Given the description of an element on the screen output the (x, y) to click on. 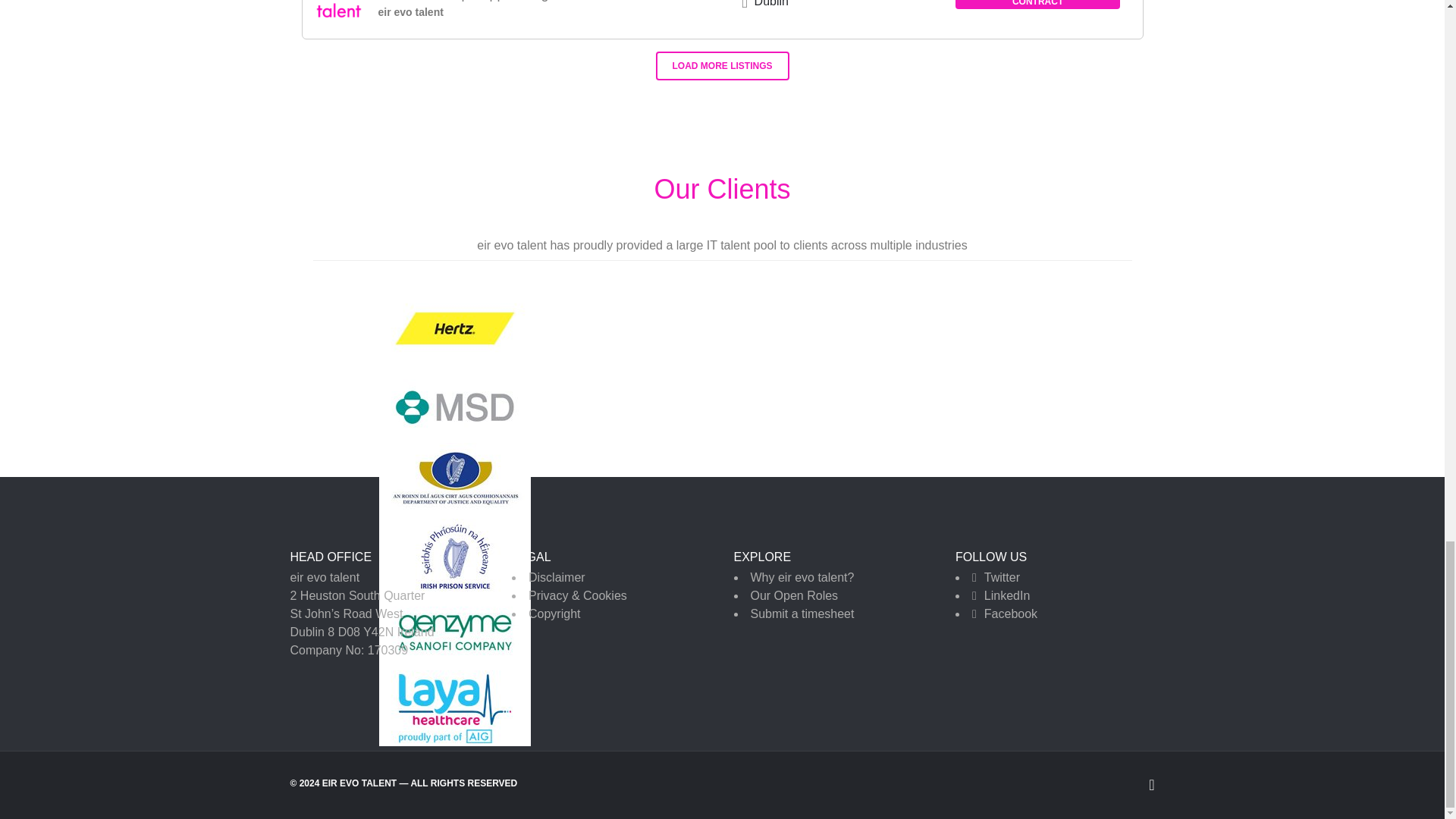
Facebook (1010, 613)
LOAD MORE LISTINGS (721, 65)
LinkedIn (1007, 594)
Submit a timesheet (802, 613)
Disclaimer (556, 576)
Dublin (771, 3)
Copyright (553, 613)
Twitter (1002, 576)
Our Open Roles (794, 594)
Why eir evo talent? (802, 576)
